Given the description of an element on the screen output the (x, y) to click on. 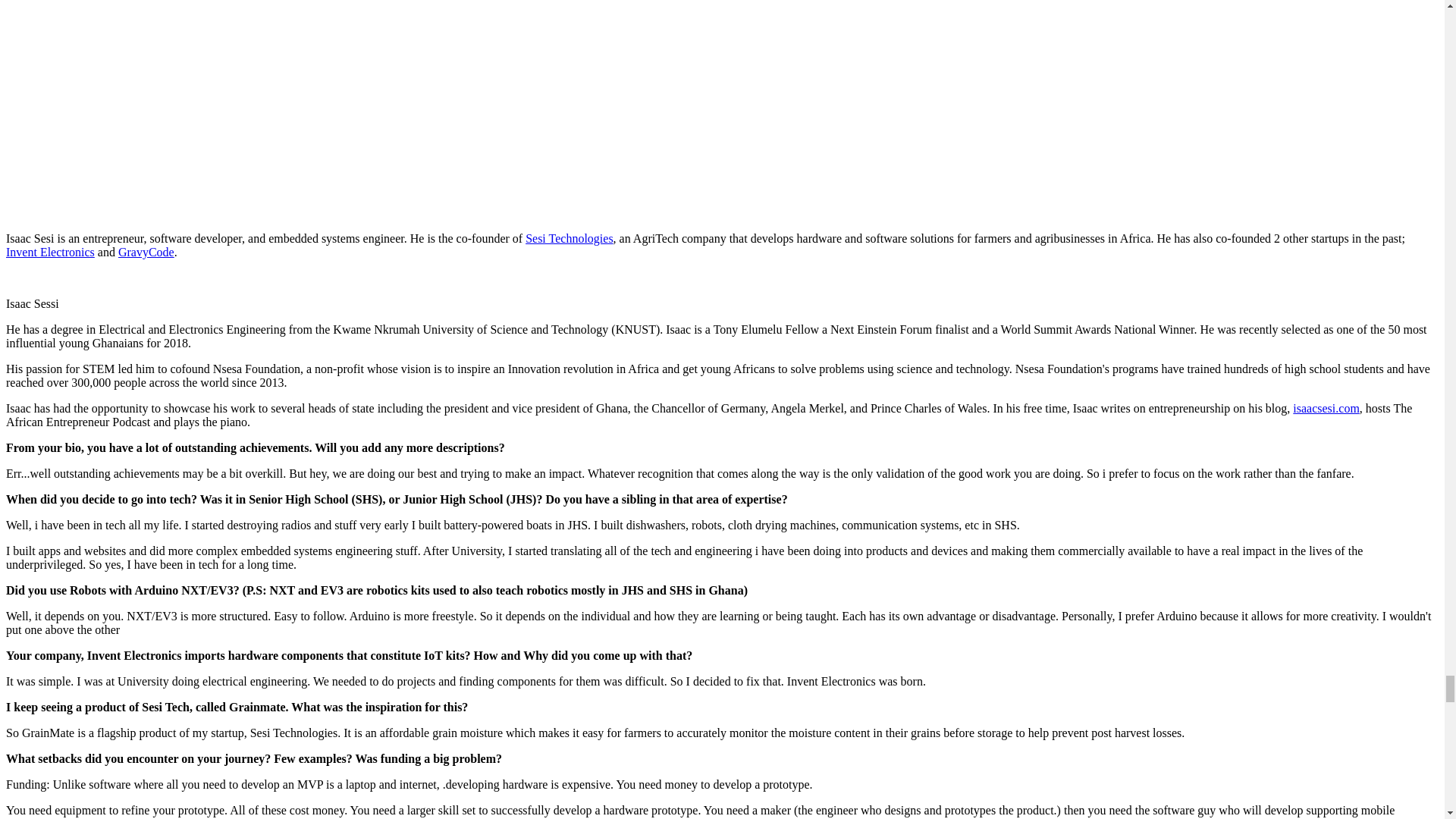
isaacsesi.com (1325, 408)
Invent Electronics (49, 251)
Sesi Technologies (568, 237)
GravyCode (145, 251)
